Given the description of an element on the screen output the (x, y) to click on. 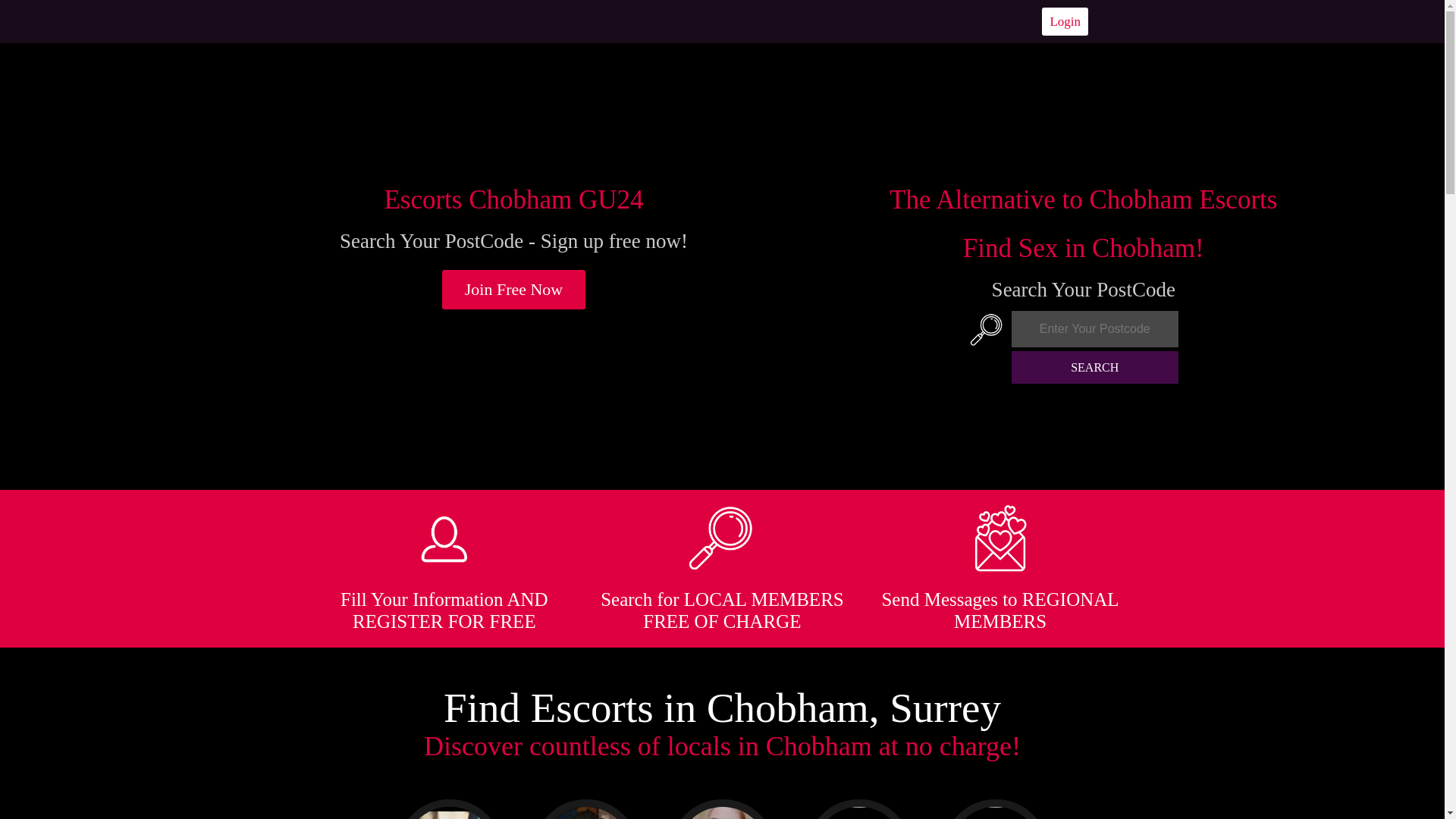
SEARCH (1094, 367)
Login (1064, 21)
Join Free Now (514, 289)
Login (1064, 21)
Join (514, 289)
